Given the description of an element on the screen output the (x, y) to click on. 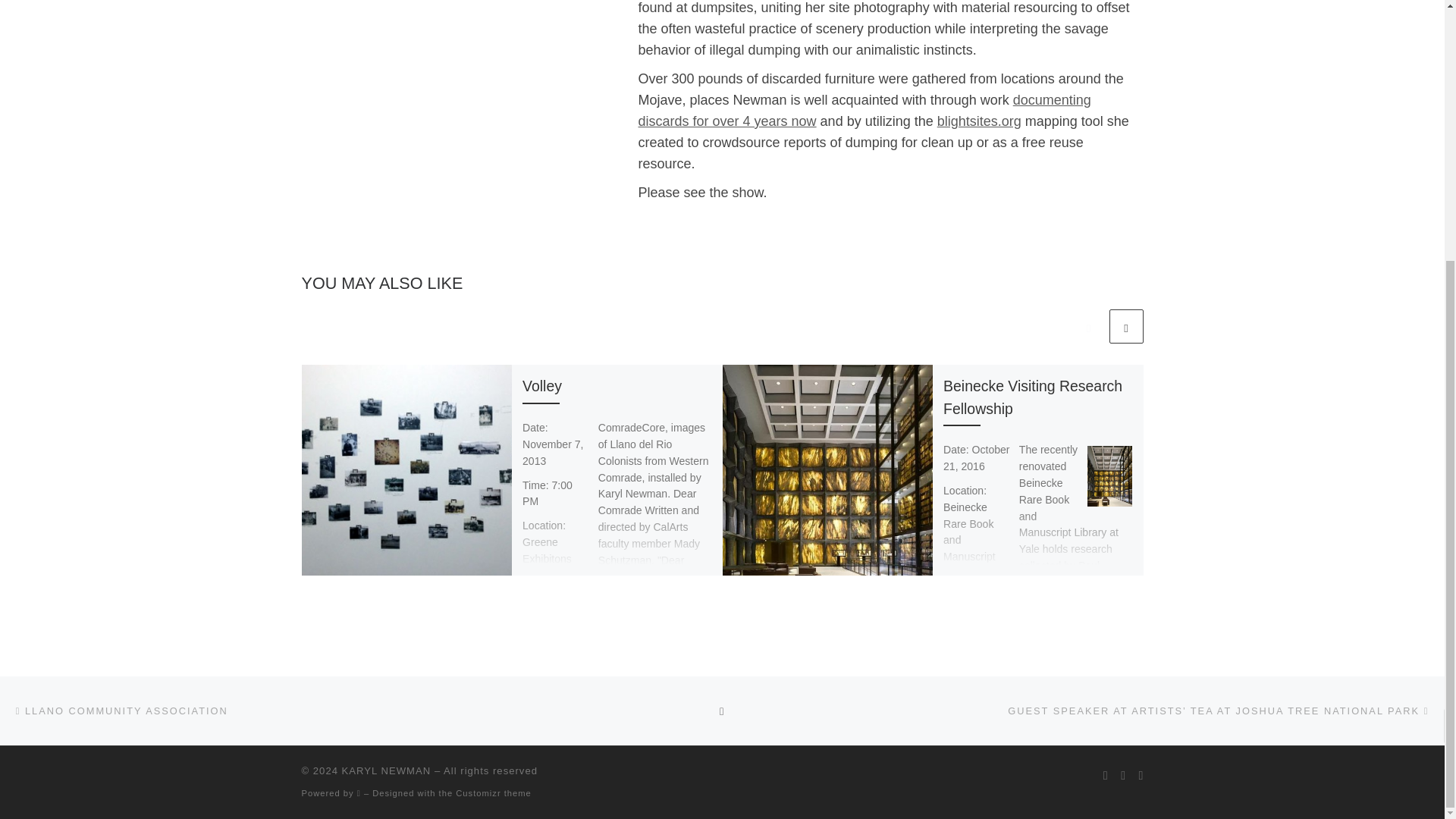
Previous related articles (1088, 326)
Beinecke Visiting Research Fellowship (1032, 396)
blightsites.org (979, 120)
Volley (542, 385)
KARYL NEWMAN (386, 770)
documenting discards for over 4 years now (864, 110)
Next related articles (1125, 326)
